Given the description of an element on the screen output the (x, y) to click on. 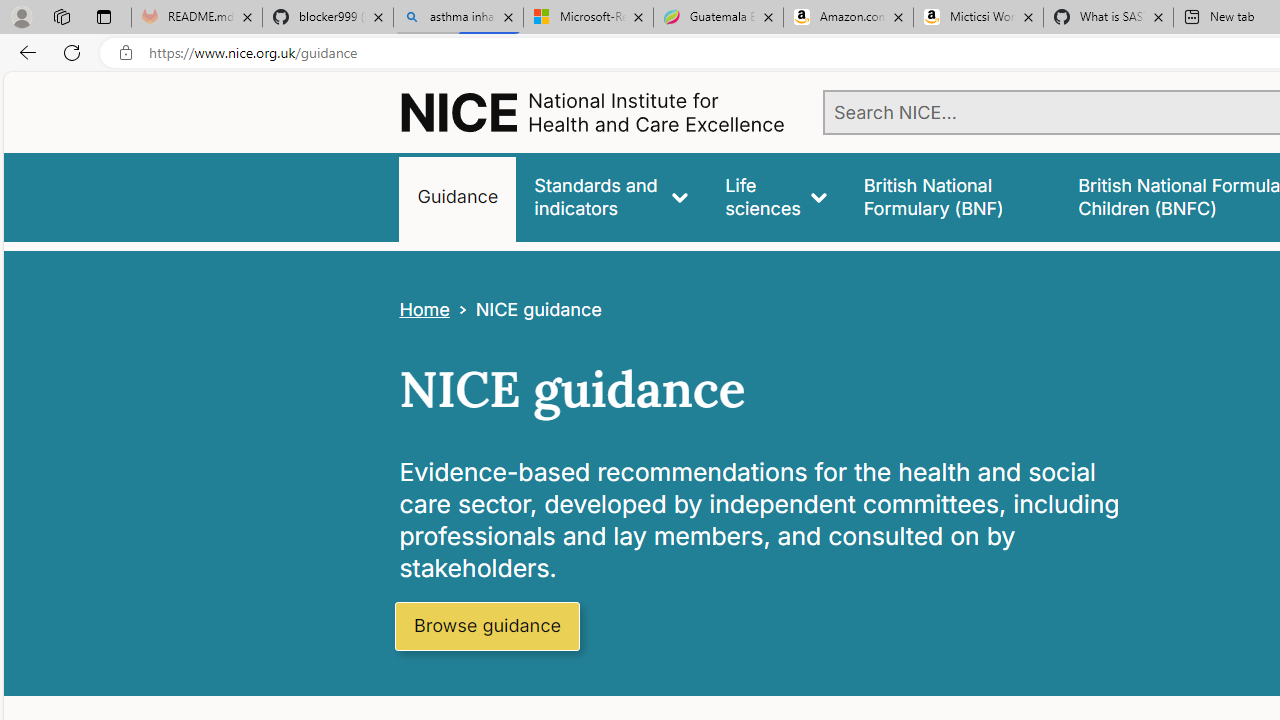
Browse guidance (486, 626)
asthma inhaler - Search (458, 17)
>NICE guidance (525, 309)
